Given the description of an element on the screen output the (x, y) to click on. 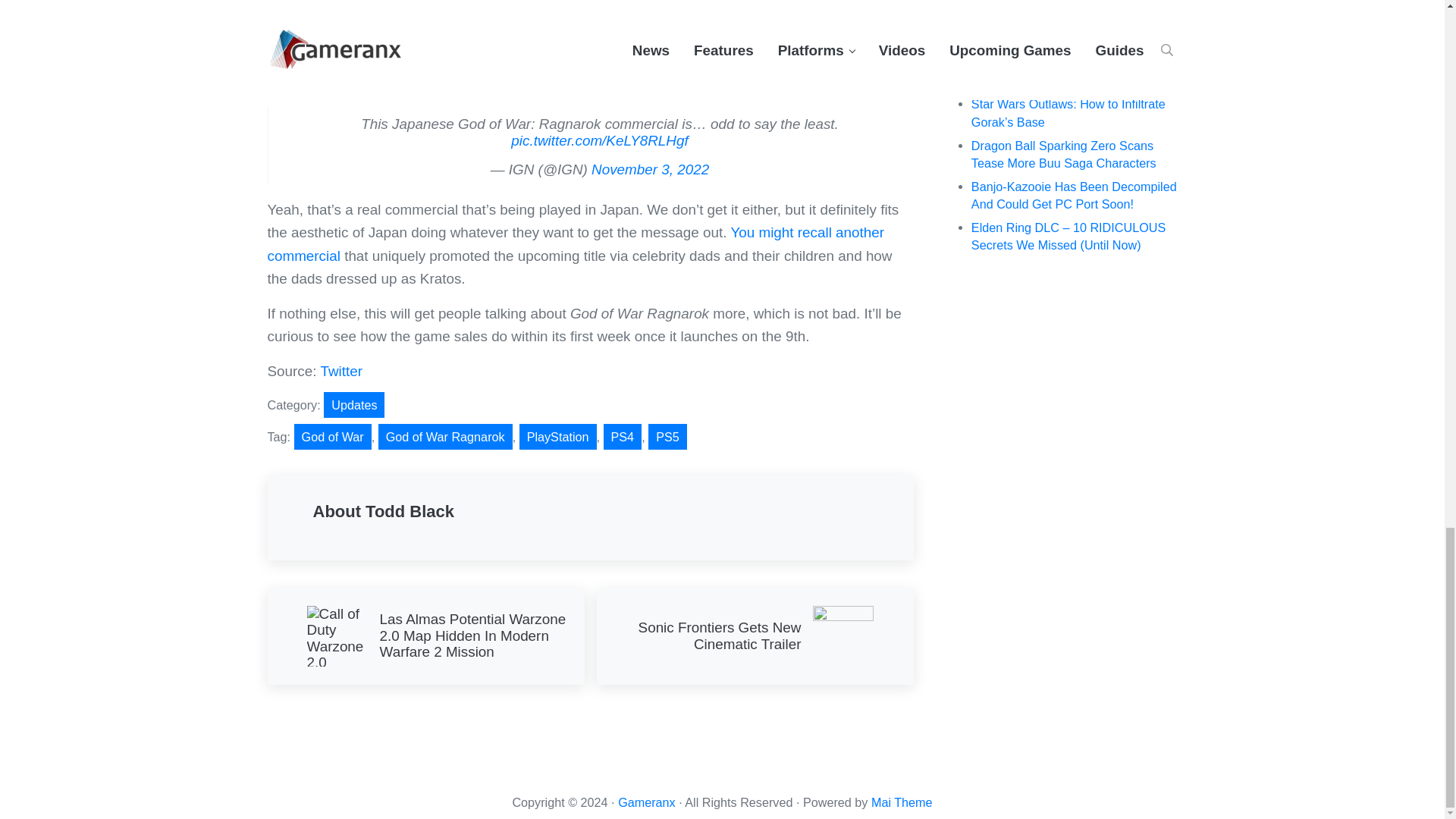
PlayStation (557, 436)
You might recall another commercial (574, 243)
Twitter (341, 371)
God of War Ragnarok (445, 436)
PS4 (623, 436)
November 3, 2022 (650, 169)
God of War (332, 436)
Updates (753, 636)
